Given the description of an element on the screen output the (x, y) to click on. 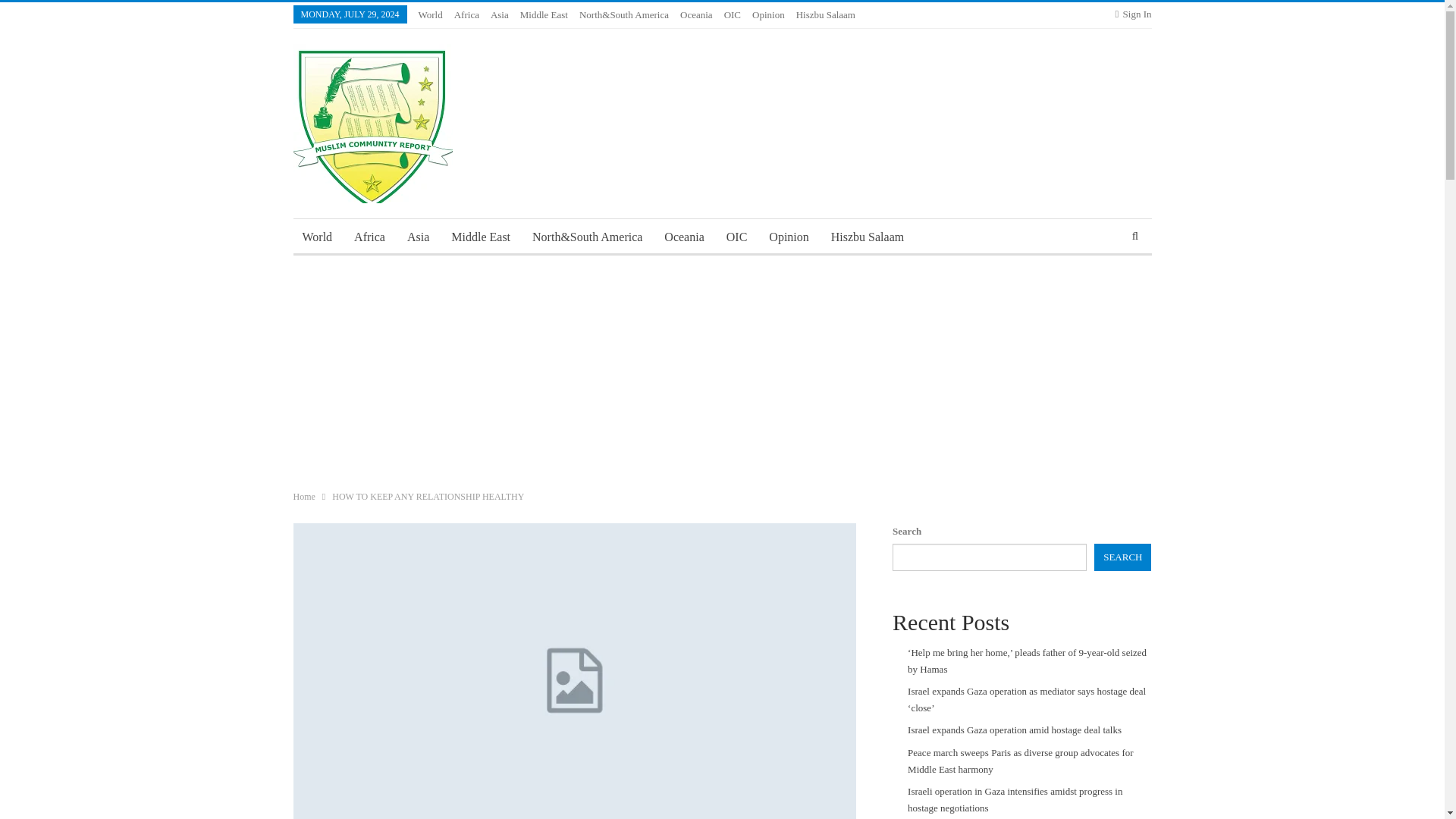
Middle East (480, 237)
Opinion (768, 14)
Africa (369, 237)
Oceania (696, 14)
Opinion (788, 237)
Oceania (684, 237)
Hiszbu Salaam (826, 14)
Sign In (1133, 13)
Africa (466, 14)
OIC (737, 237)
World (430, 14)
Middle East (543, 14)
OIC (732, 14)
Asia (417, 237)
